Given the description of an element on the screen output the (x, y) to click on. 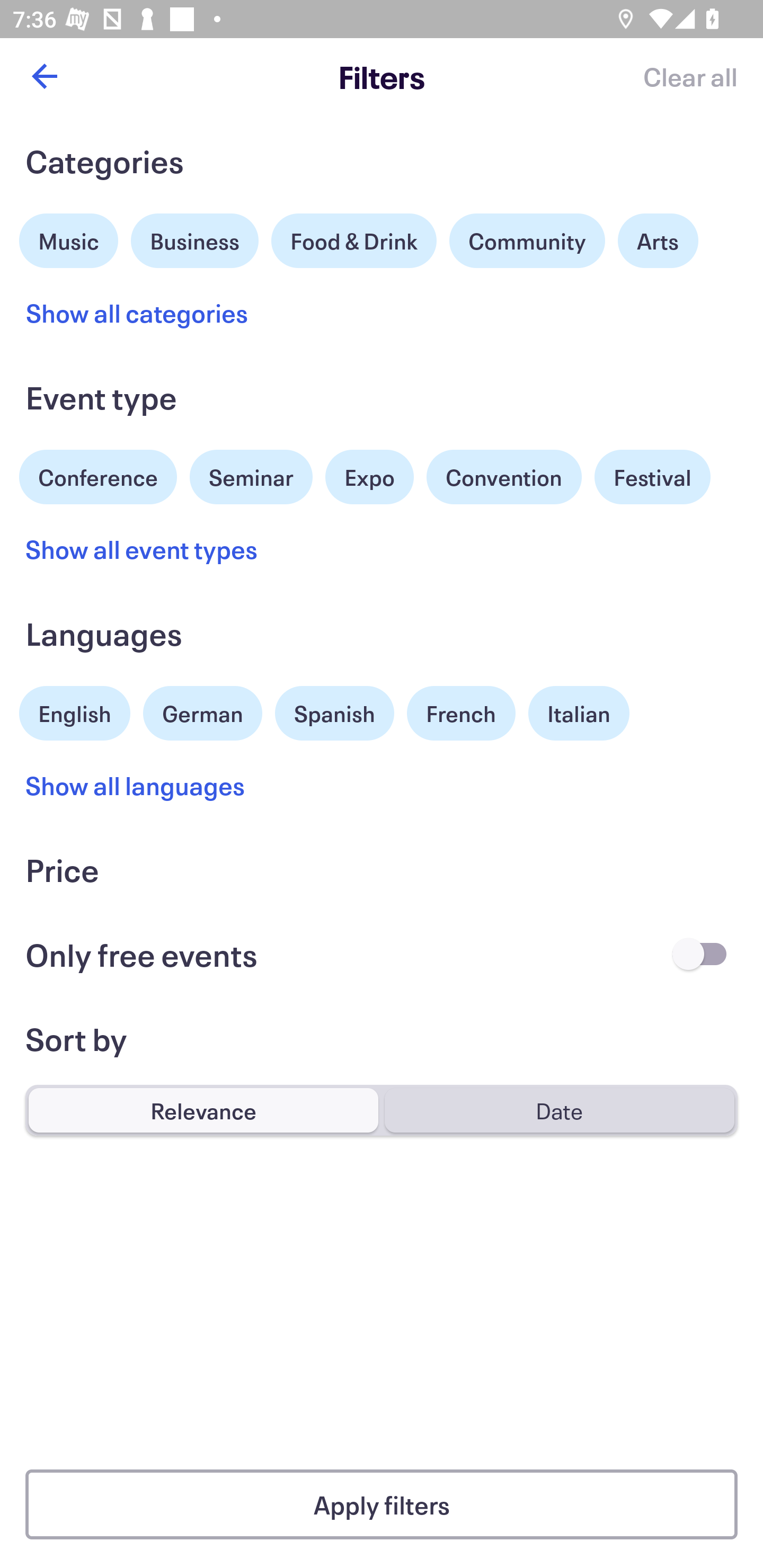
Back button (44, 75)
Clear all (690, 75)
Music (68, 238)
Business (194, 238)
Food & Drink (353, 240)
Community (527, 240)
Arts (658, 240)
Show all categories (136, 312)
Conference (98, 475)
Seminar (250, 477)
Expo (369, 477)
Convention (503, 477)
Festival (652, 477)
Show all event types (141, 548)
English (74, 710)
German (202, 710)
Spanish (334, 713)
French (460, 713)
Italian (578, 713)
Show all languages (135, 784)
Relevance (203, 1109)
Date (559, 1109)
Apply filters (381, 1504)
